Given the description of an element on the screen output the (x, y) to click on. 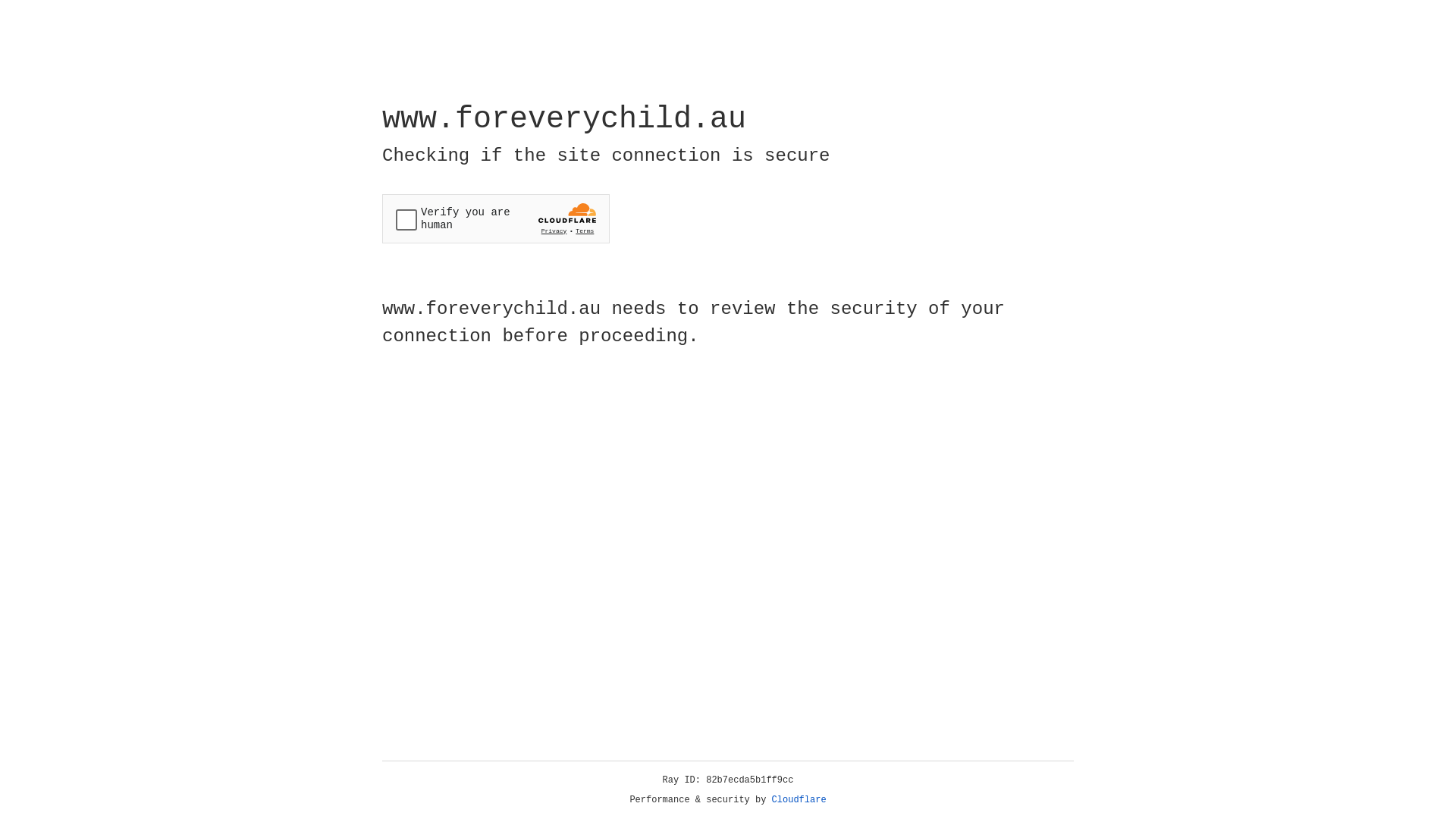
Widget containing a Cloudflare security challenge Element type: hover (495, 218)
Cloudflare Element type: text (798, 799)
